Given the description of an element on the screen output the (x, y) to click on. 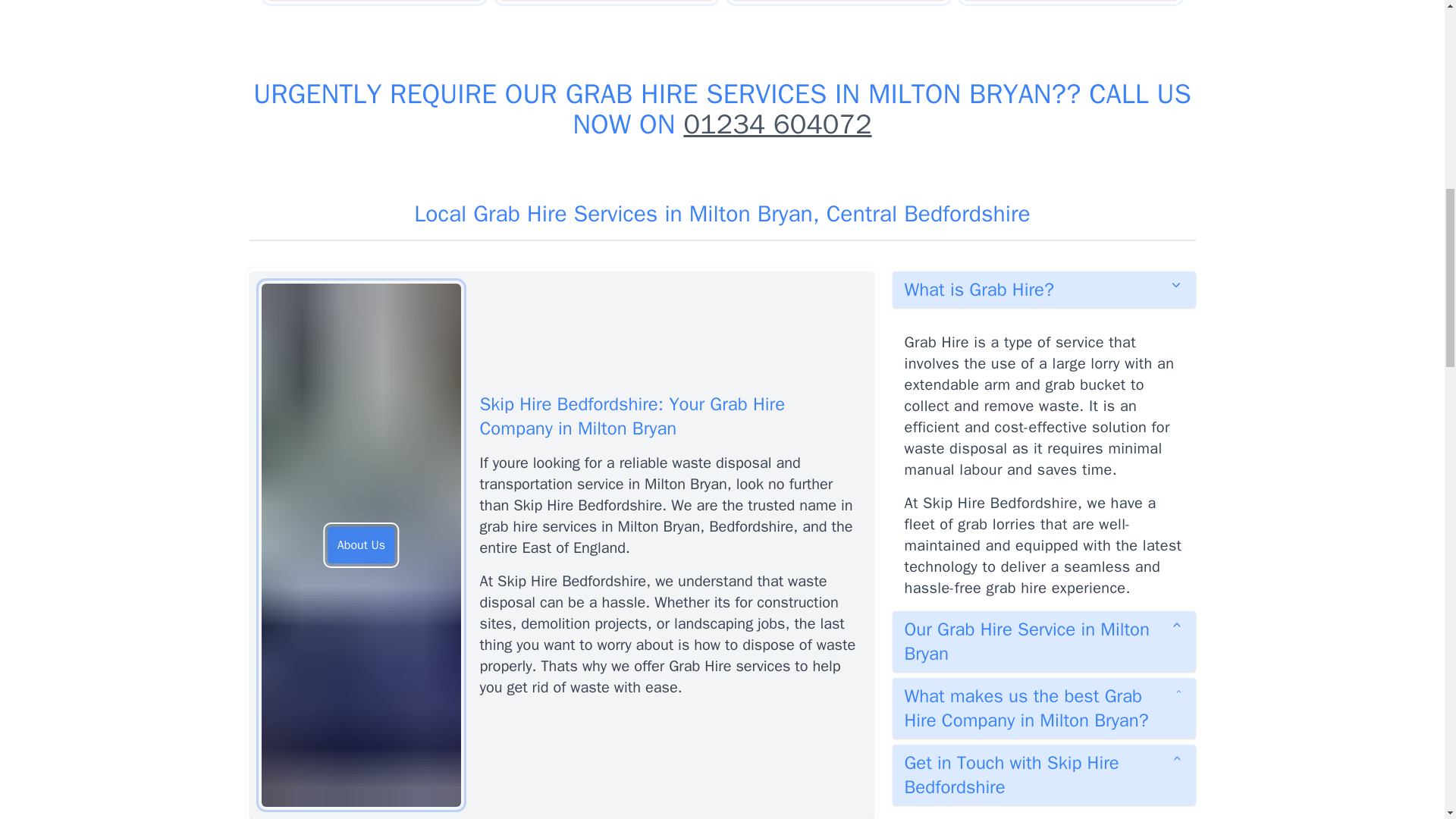
Our Grab Hire Service in Milton Bryan (1043, 640)
01234 604072 (776, 124)
What makes us the best Grab Hire Company in Milton Bryan? (1043, 708)
Get in Touch with Skip Hire Bedfordshire (1043, 774)
About Us (361, 545)
What is Grab Hire? (1043, 289)
